Given the description of an element on the screen output the (x, y) to click on. 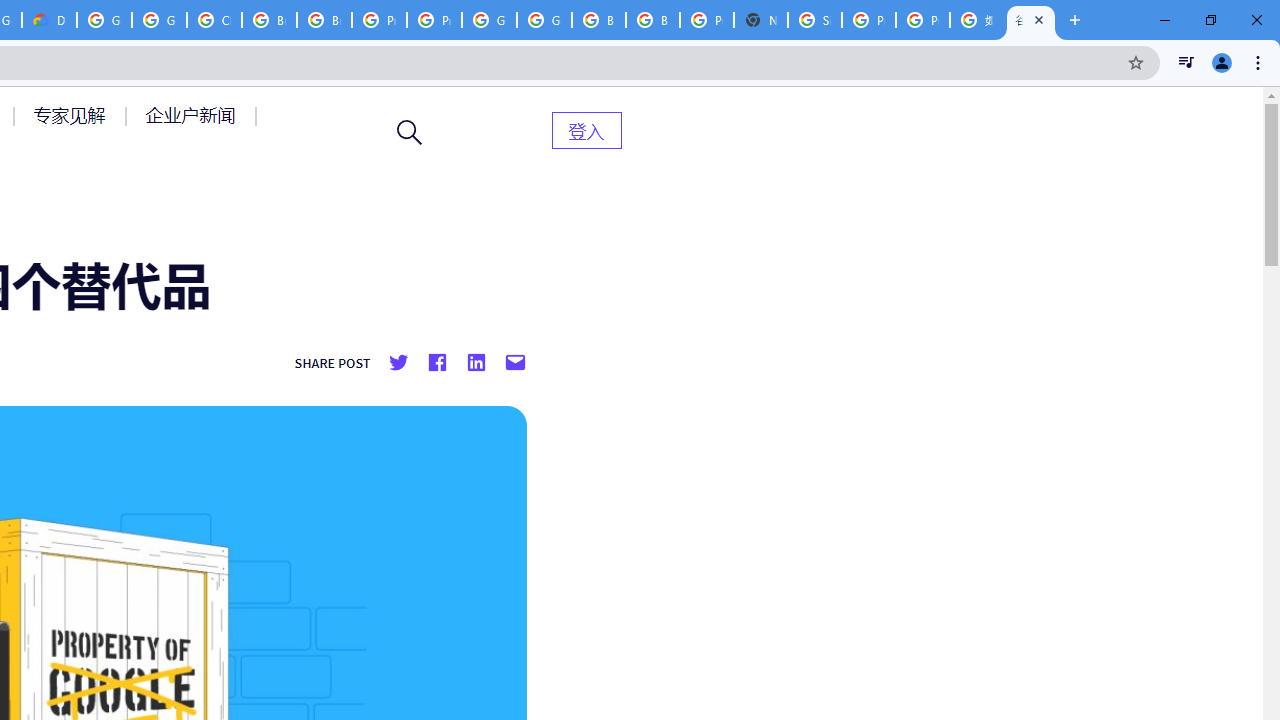
AutomationID: menu-item-77764 (72, 115)
AutomationID: menu-item-82399 (586, 129)
Google Cloud Platform (544, 20)
Share on facebook (436, 363)
